Given the description of an element on the screen output the (x, y) to click on. 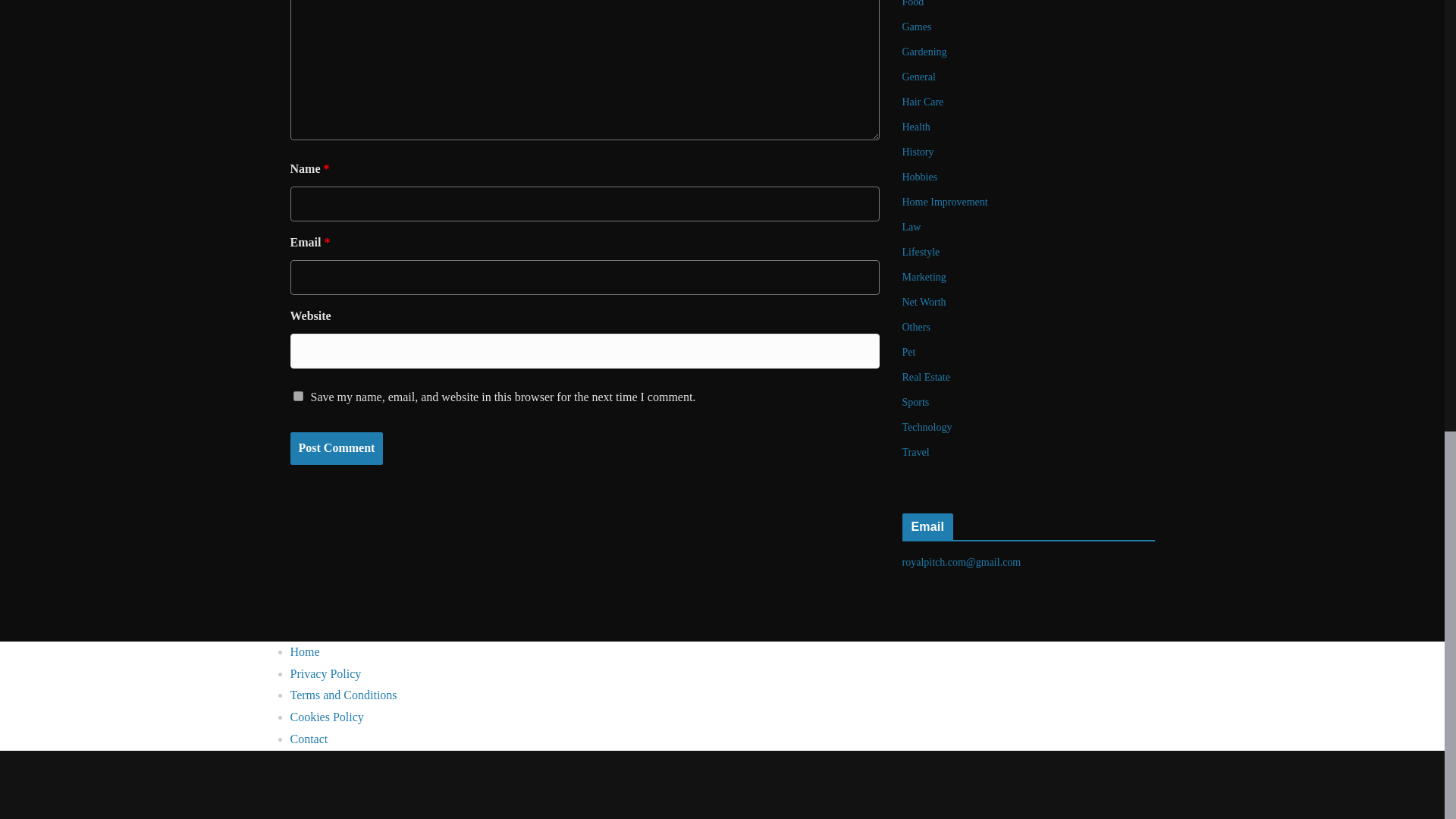
Gardening (924, 51)
Health (916, 126)
Hair Care (922, 101)
History (918, 152)
General (919, 76)
Food (913, 3)
yes (297, 395)
Post Comment (335, 448)
Post Comment (335, 448)
Games (916, 26)
